Given the description of an element on the screen output the (x, y) to click on. 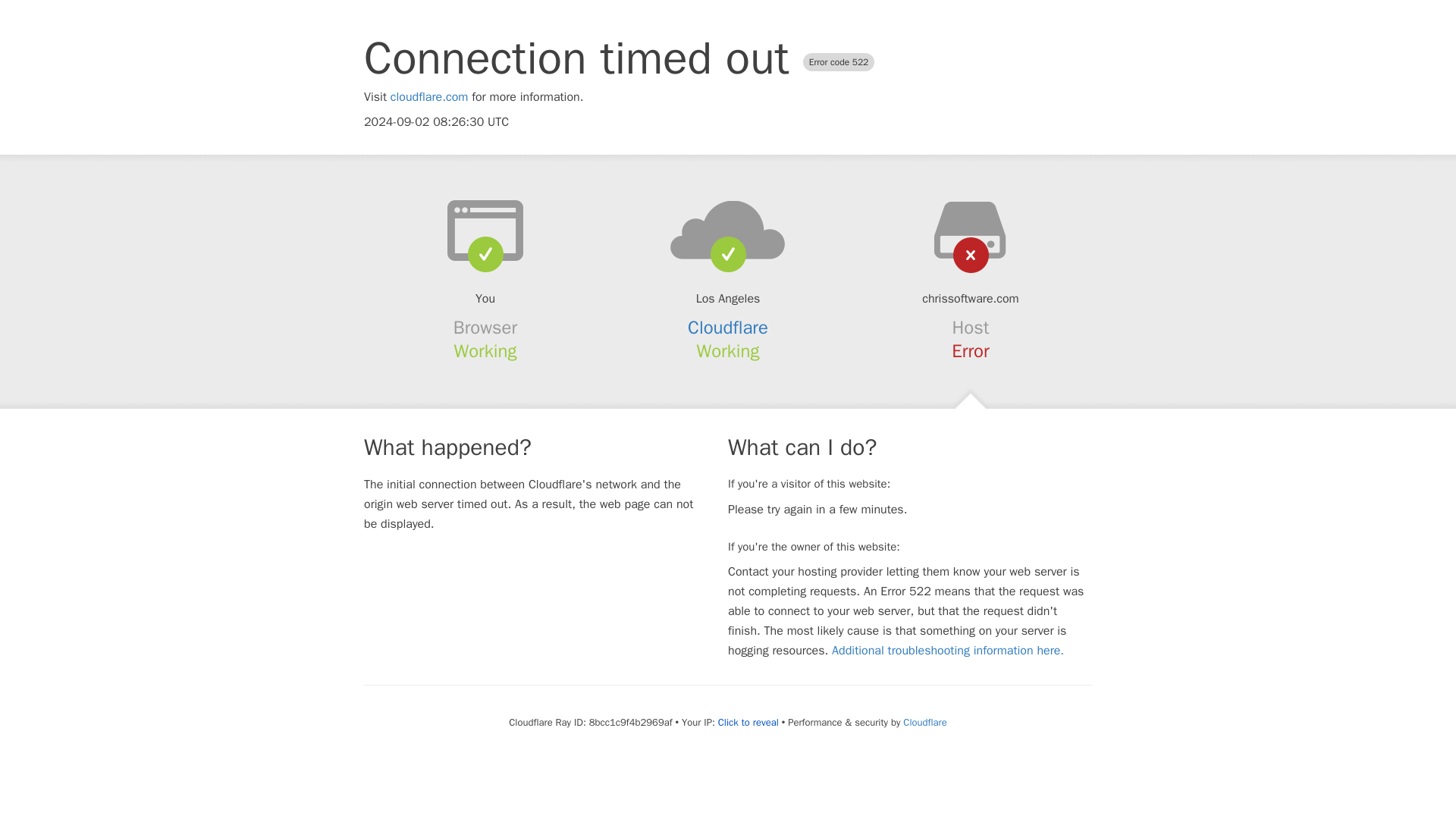
Cloudflare (924, 721)
Additional troubleshooting information here. (947, 650)
Click to reveal (747, 722)
Cloudflare (727, 327)
cloudflare.com (429, 96)
